Given the description of an element on the screen output the (x, y) to click on. 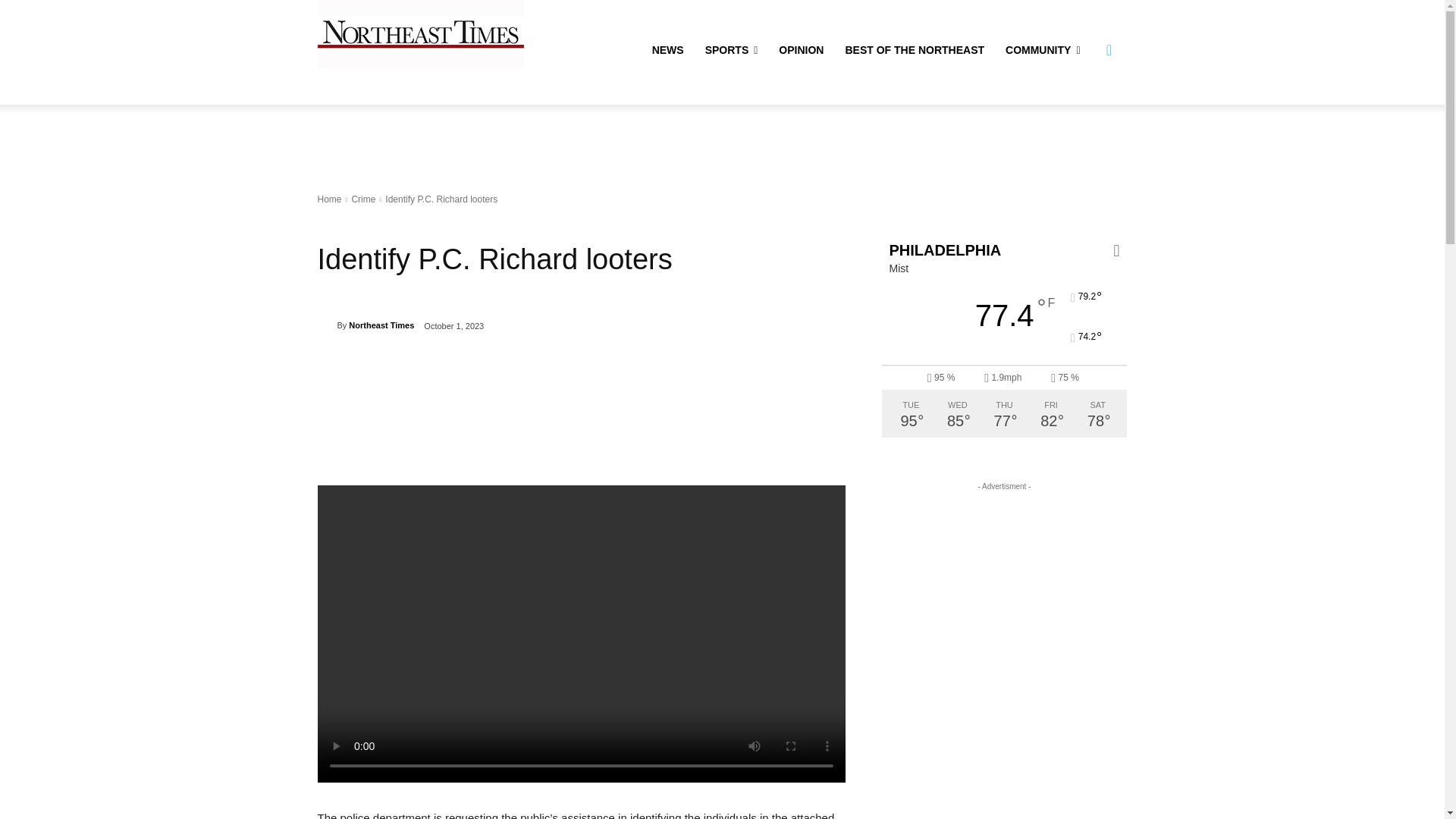
SPORTS (731, 49)
NEWS (668, 49)
COMMUNITY (1042, 49)
OPINION (801, 49)
Home (328, 199)
Northeast Times (381, 324)
View all posts in Crime (362, 199)
BEST OF THE NORTHEAST (914, 49)
Crime (362, 199)
Northeast Times (326, 324)
